Given the description of an element on the screen output the (x, y) to click on. 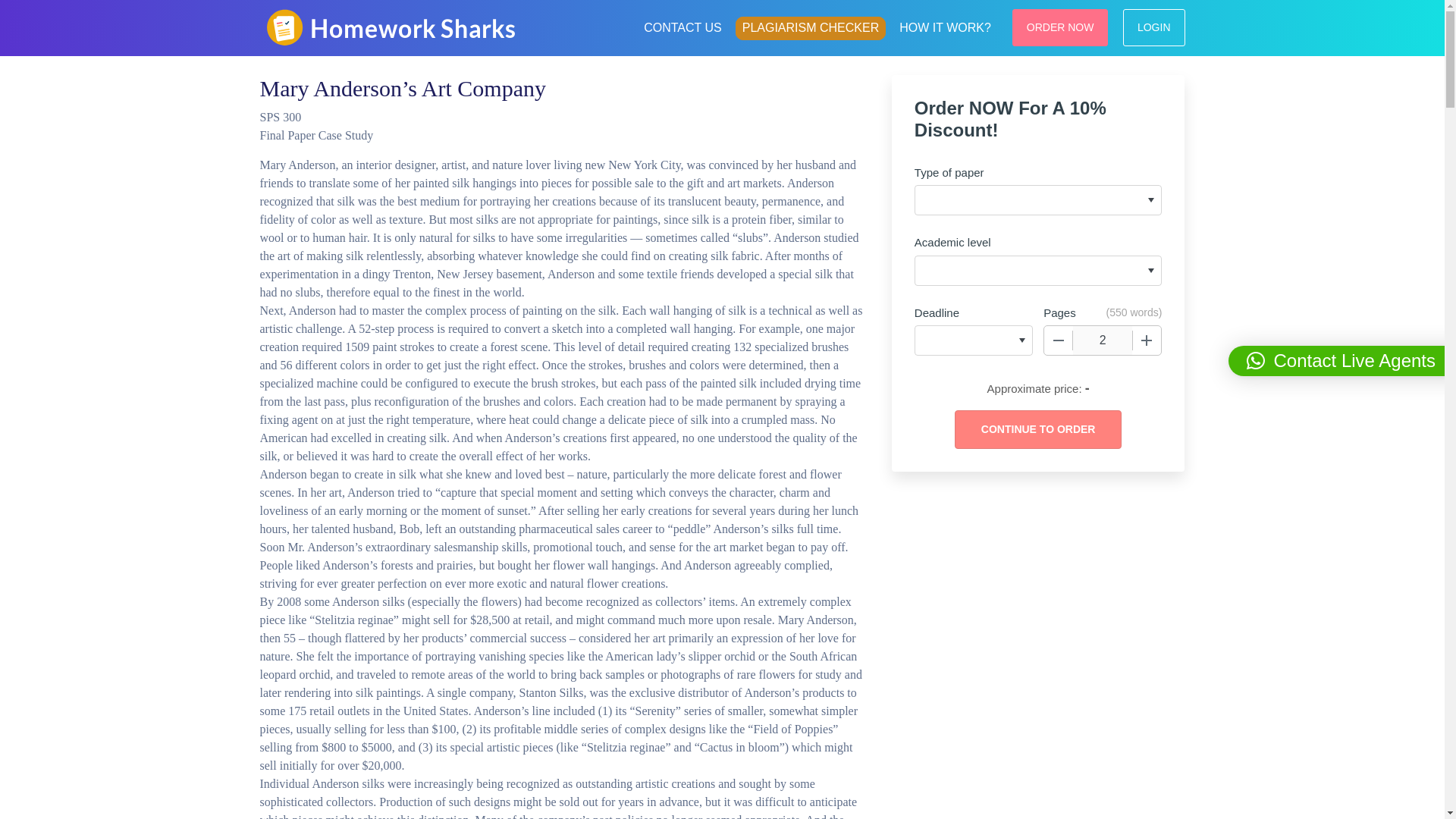
HOW IT WORK? (945, 25)
Decrease (1058, 339)
Continue to order (1038, 429)
PLAGIARISM CHECKER (810, 28)
CONTACT US (682, 25)
HOW IT WORK? (945, 25)
Increase (1146, 339)
PLAGIARISM CHECKER (810, 28)
2 (1102, 339)
ORDER NOW (1059, 27)
LOGIN (1153, 27)
Continue to order (1038, 429)
CONTACT US (682, 25)
